Given the description of an element on the screen output the (x, y) to click on. 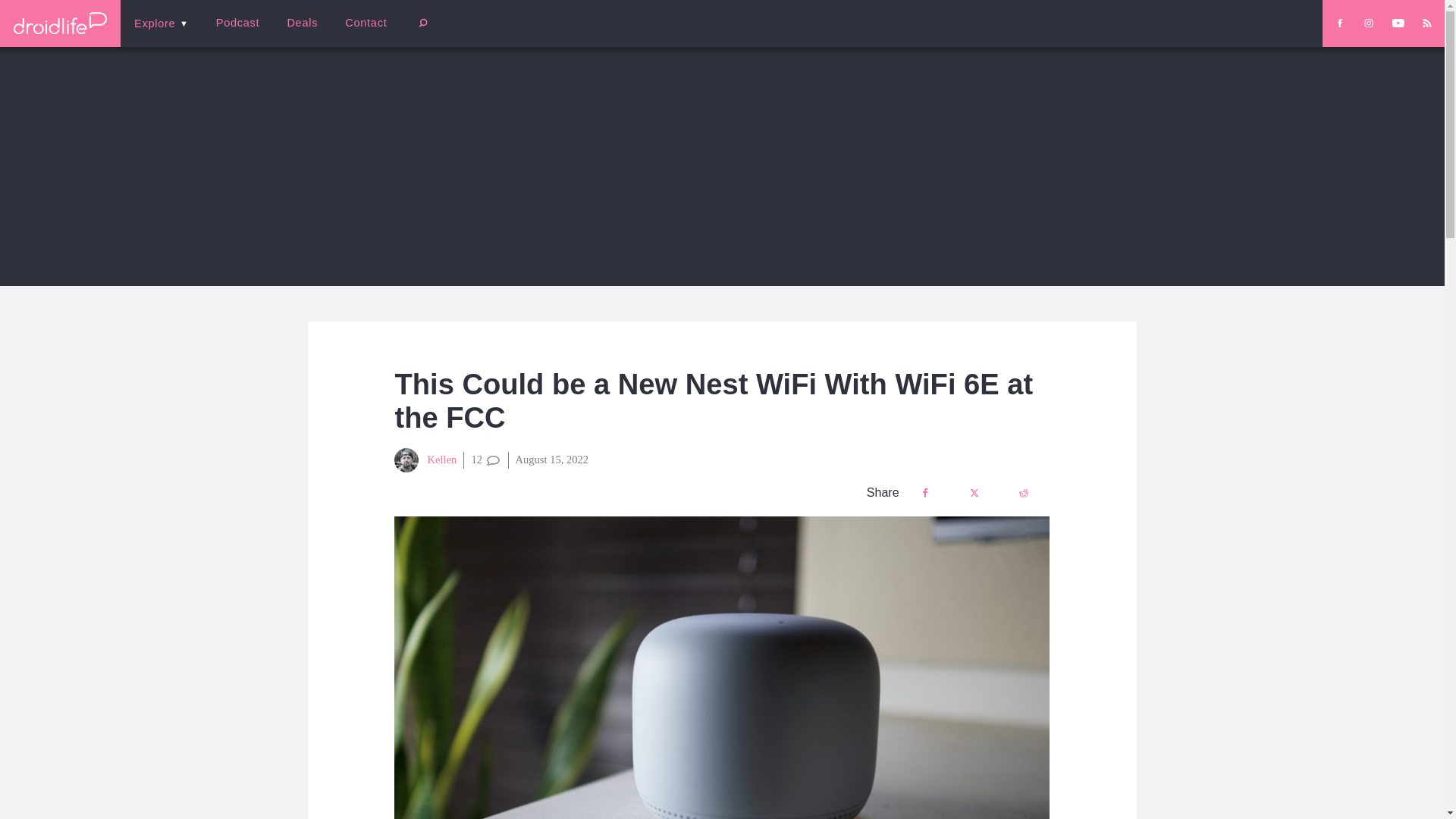
Droid Life RSS (1426, 23)
Contact (365, 23)
Kellen (425, 459)
Deals (302, 23)
Droid Life on YouTube (1398, 23)
Droid Life on Instagram (1368, 23)
Droid Life on Facebook (1339, 23)
Podcast (237, 23)
Explore (161, 23)
Beginners' Guide (360, 33)
